Given the description of an element on the screen output the (x, y) to click on. 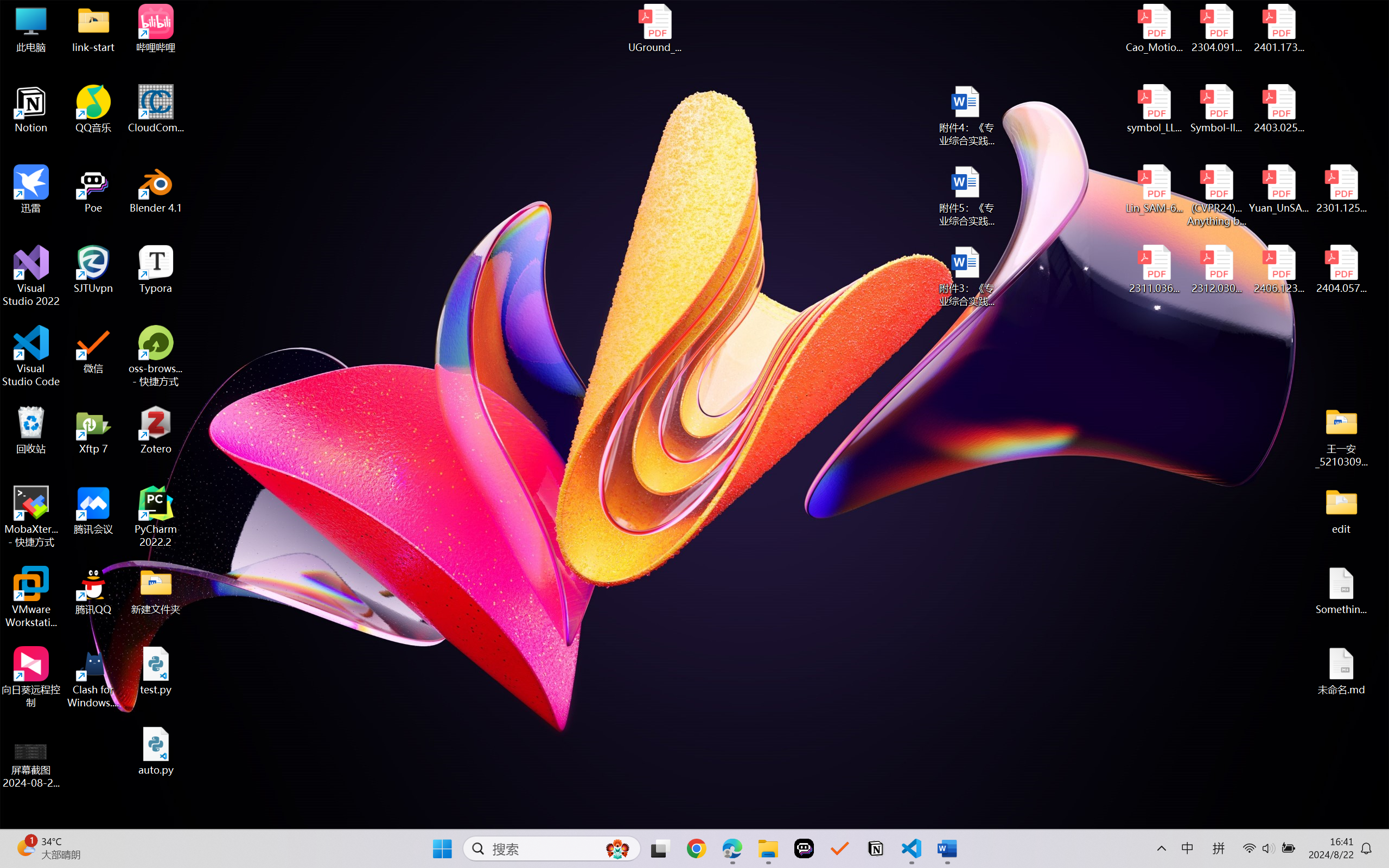
CloudCompare (156, 109)
Visual Studio Code (31, 355)
Blender 4.1 (156, 189)
2301.12597v3.pdf (1340, 189)
2403.02502v1.pdf (1278, 109)
symbol_LLM.pdf (1154, 109)
Notion (875, 848)
Visual Studio 2022 (31, 276)
